Given the description of an element on the screen output the (x, y) to click on. 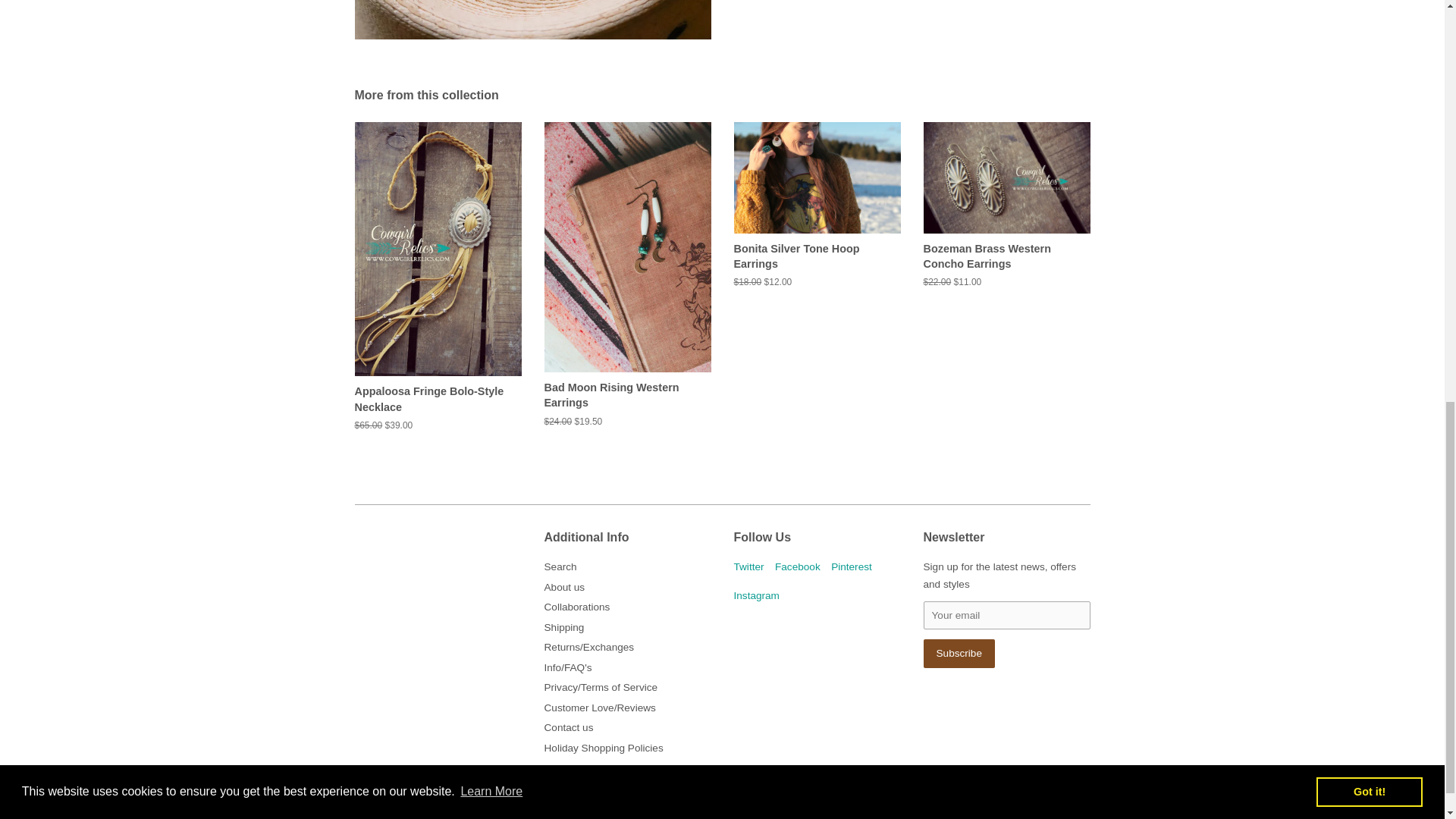
Subscribe (958, 653)
Cowgirl Relics on Twitter (748, 566)
Cowgirl Relics on Facebook (797, 566)
Cowgirl Relics on Instagram (755, 595)
Cowgirl Relics on Pinterest (851, 566)
